Given the description of an element on the screen output the (x, y) to click on. 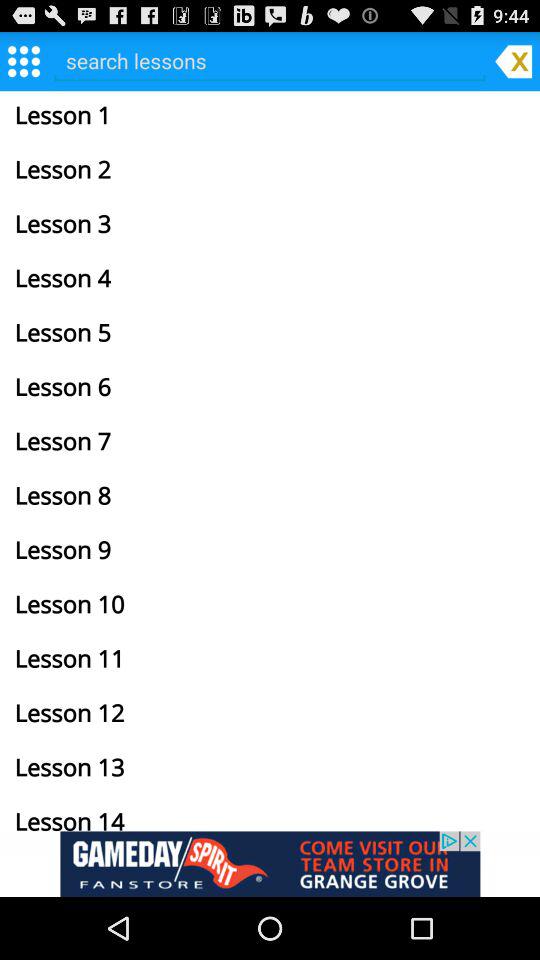
advertisement link (270, 864)
